Given the description of an element on the screen output the (x, y) to click on. 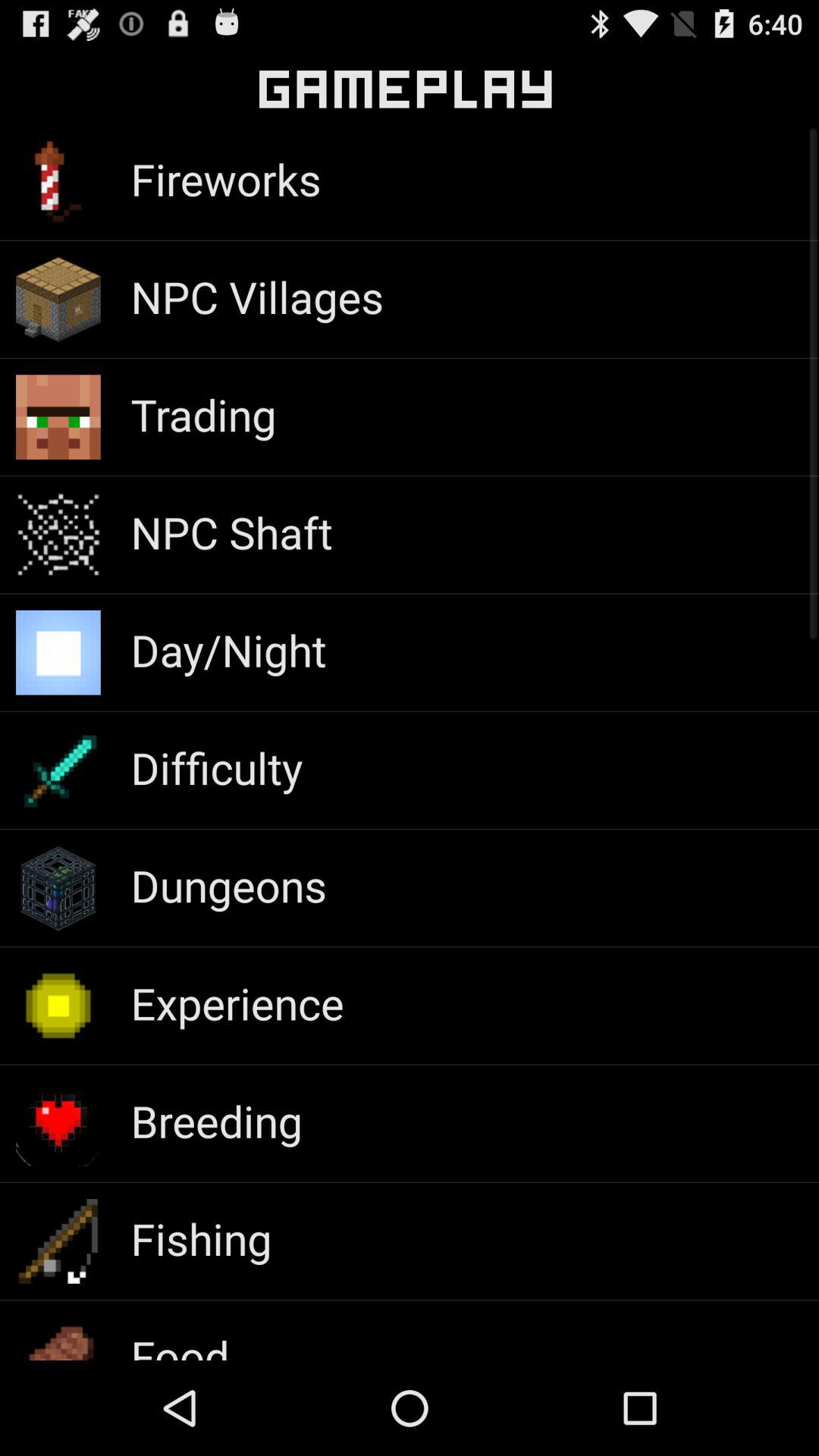
turn off trading app (203, 414)
